Given the description of an element on the screen output the (x, y) to click on. 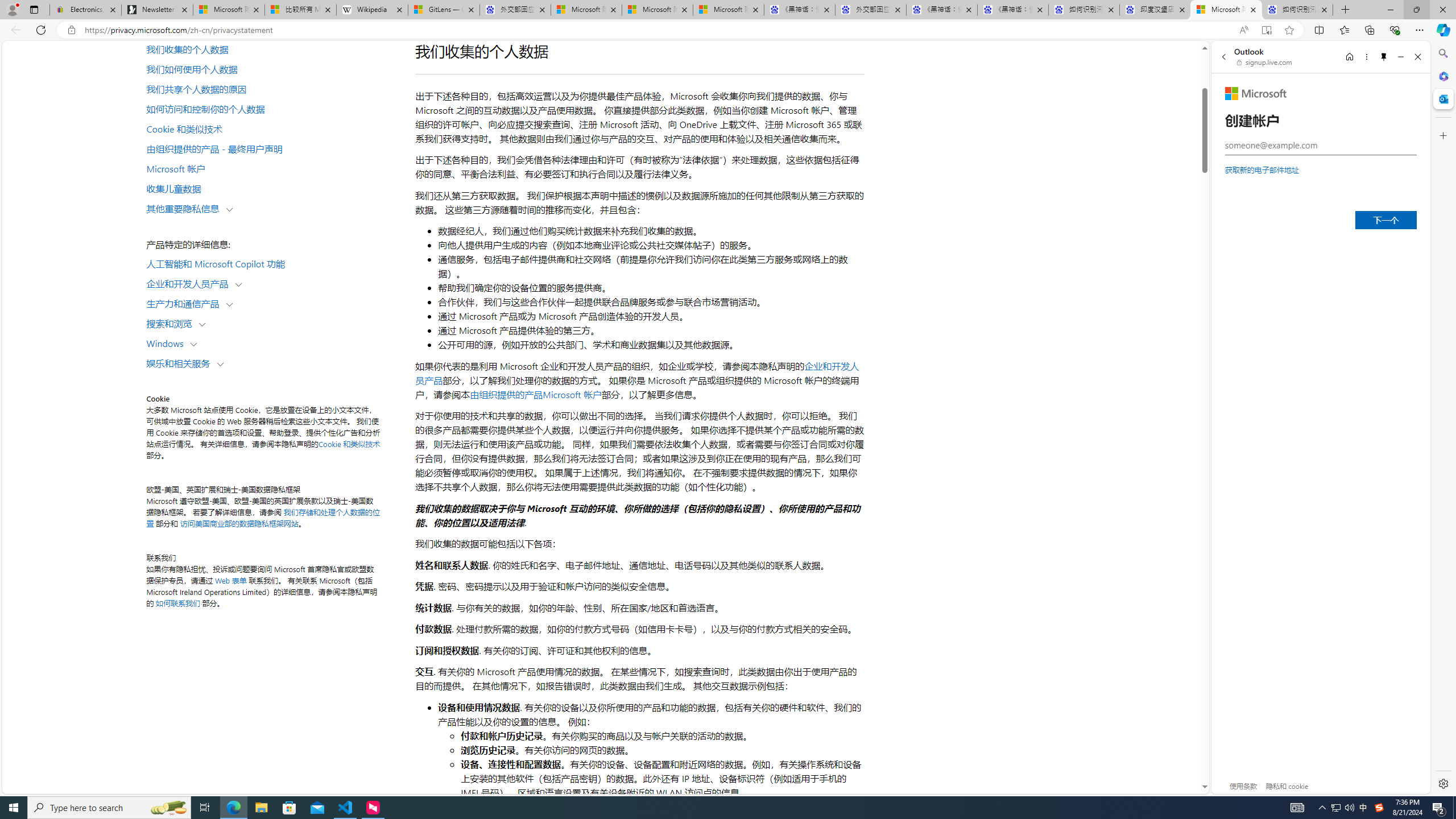
Unpin side pane (1383, 56)
Enter Immersive Reader (F9) (1266, 29)
More options (1366, 56)
Side bar (1443, 418)
